Given the description of an element on the screen output the (x, y) to click on. 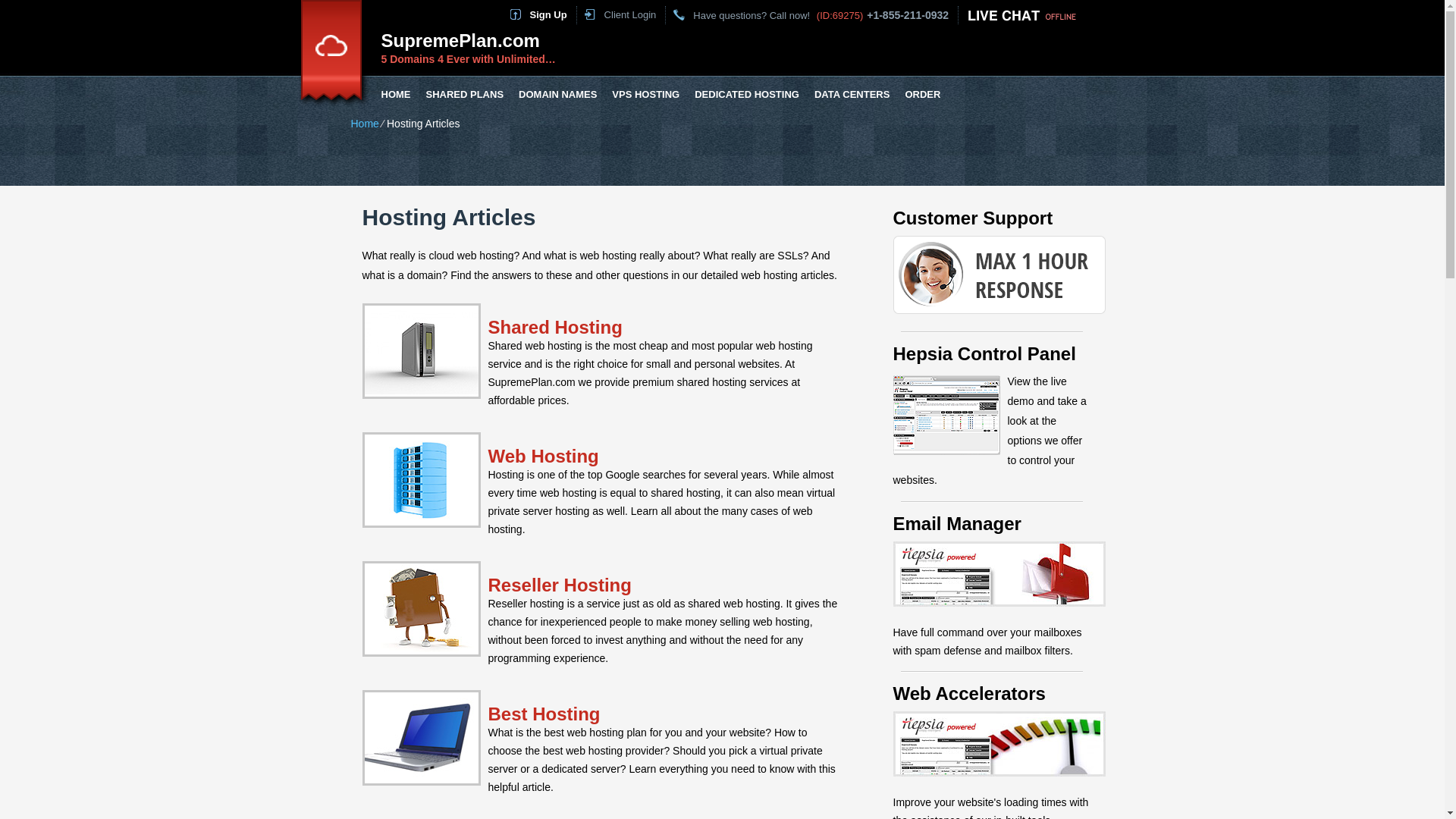
Shared Hosting (555, 326)
DOMAIN NAMES (557, 94)
Home (364, 123)
Sign Up (547, 14)
SHARED PLANS (465, 94)
VPS HOSTING (645, 94)
Reseller Hosting (559, 584)
Client Login (630, 14)
client login (630, 14)
DEDICATED HOSTING (746, 94)
